Given the description of an element on the screen output the (x, y) to click on. 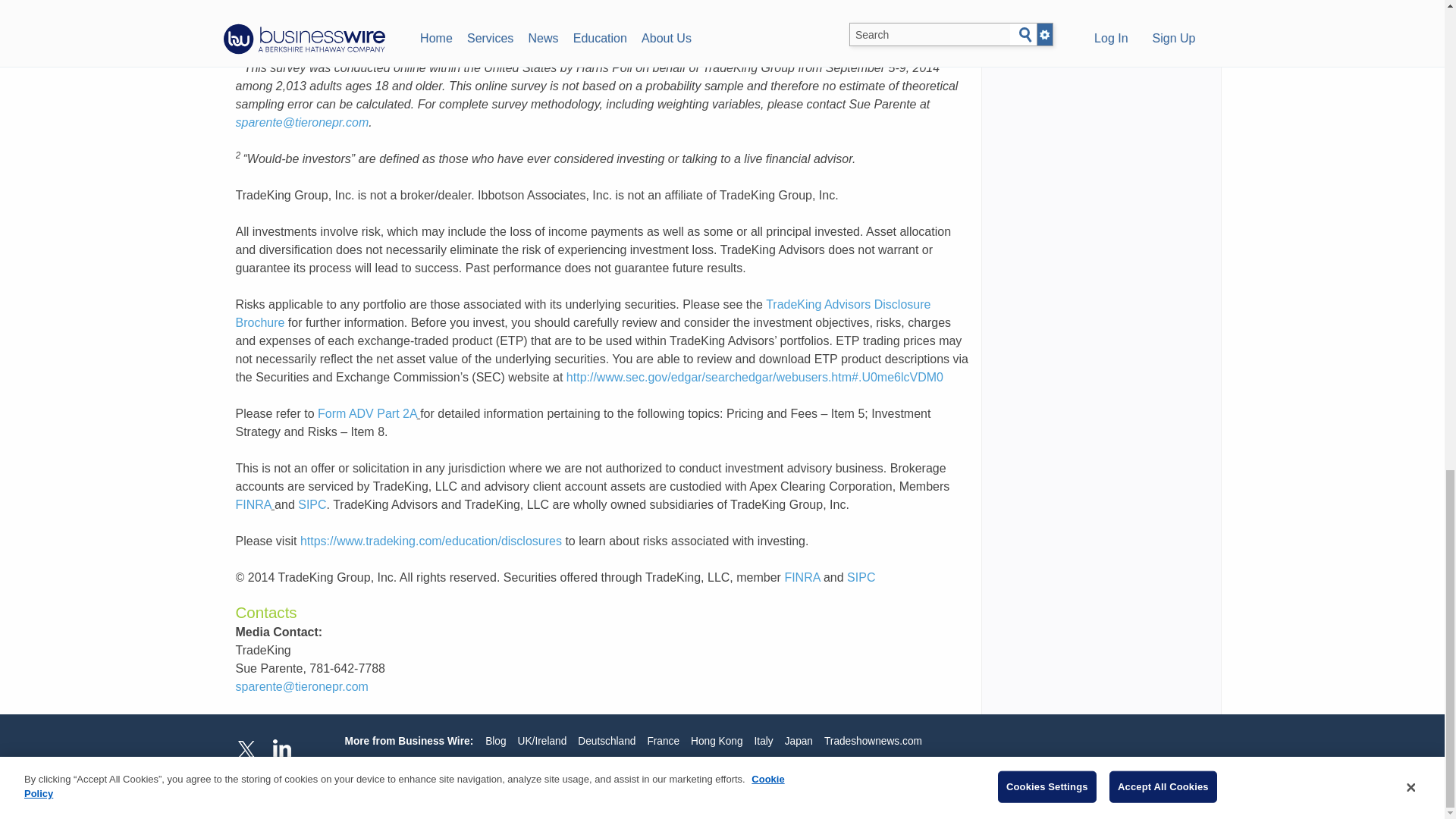
FINRA (801, 576)
FINRA (252, 504)
SIPC (861, 576)
SIPC (312, 504)
Form ADV Part 2A (366, 413)
TradeKing Advisors Disclosure Brochure (582, 313)
